Given the description of an element on the screen output the (x, y) to click on. 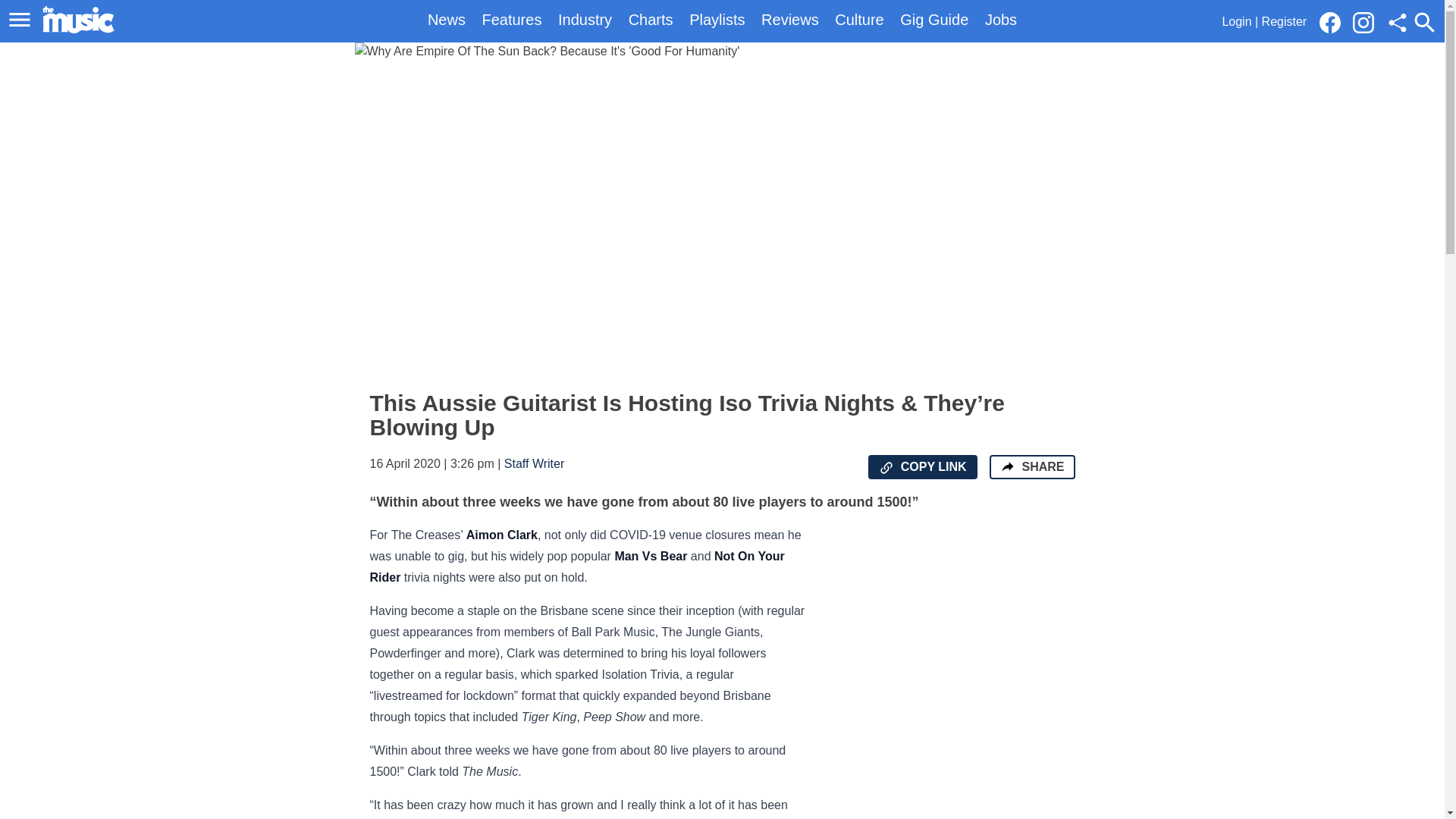
Culture (858, 19)
News (446, 19)
Share the page (1007, 466)
Link to our Instagram (1363, 22)
Industry (584, 19)
Link to our Facebook (1334, 21)
Staff Writer (533, 463)
Link to our Facebook (1329, 22)
Gig Guide (933, 19)
Register (1284, 21)
Playlists (716, 19)
Login (1235, 21)
Charts (650, 19)
Share the page SHARE (1032, 467)
Link to our Instagram (1367, 21)
